Given the description of an element on the screen output the (x, y) to click on. 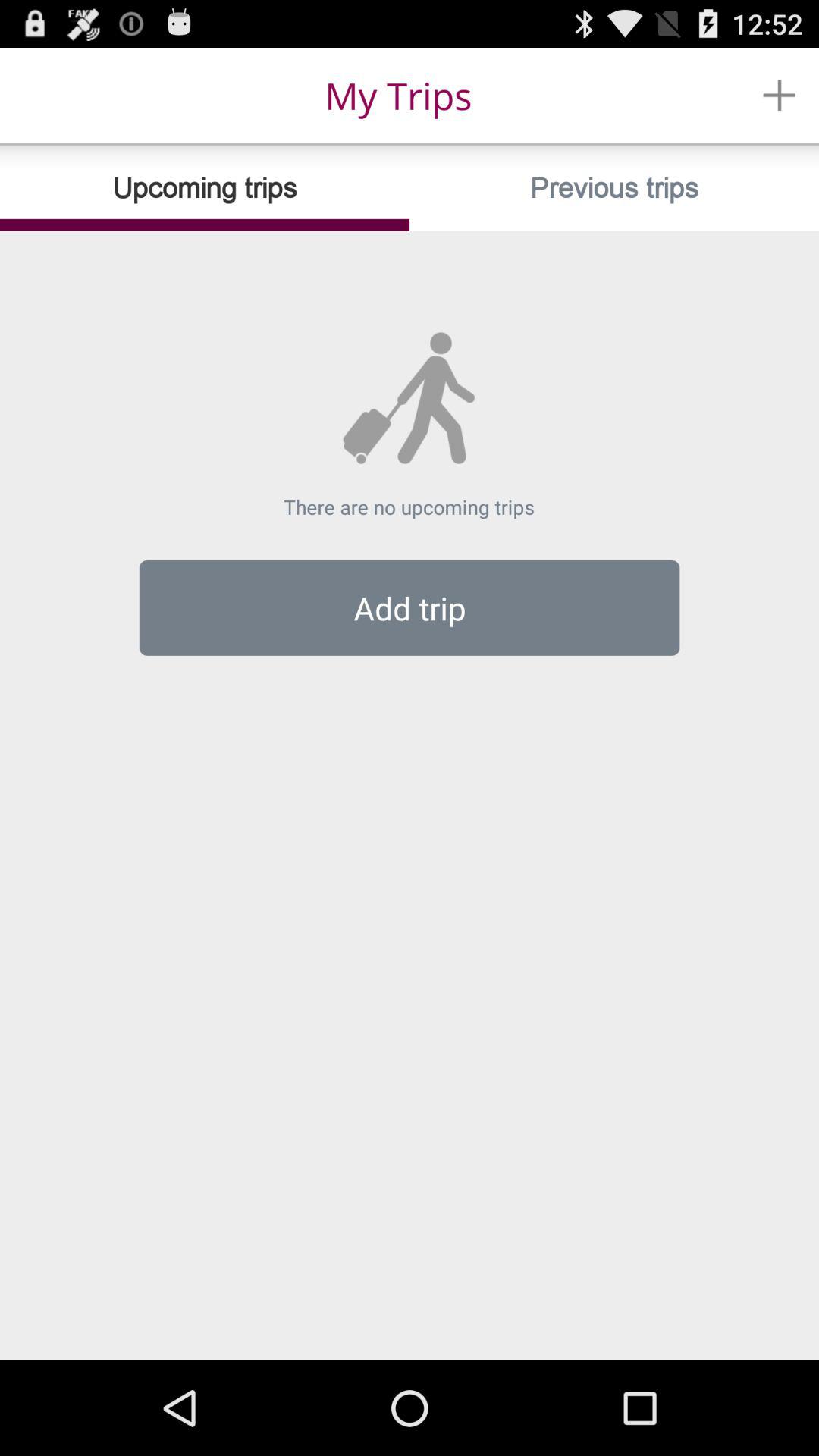
press the icon to the right of upcoming trips item (614, 187)
